Given the description of an element on the screen output the (x, y) to click on. 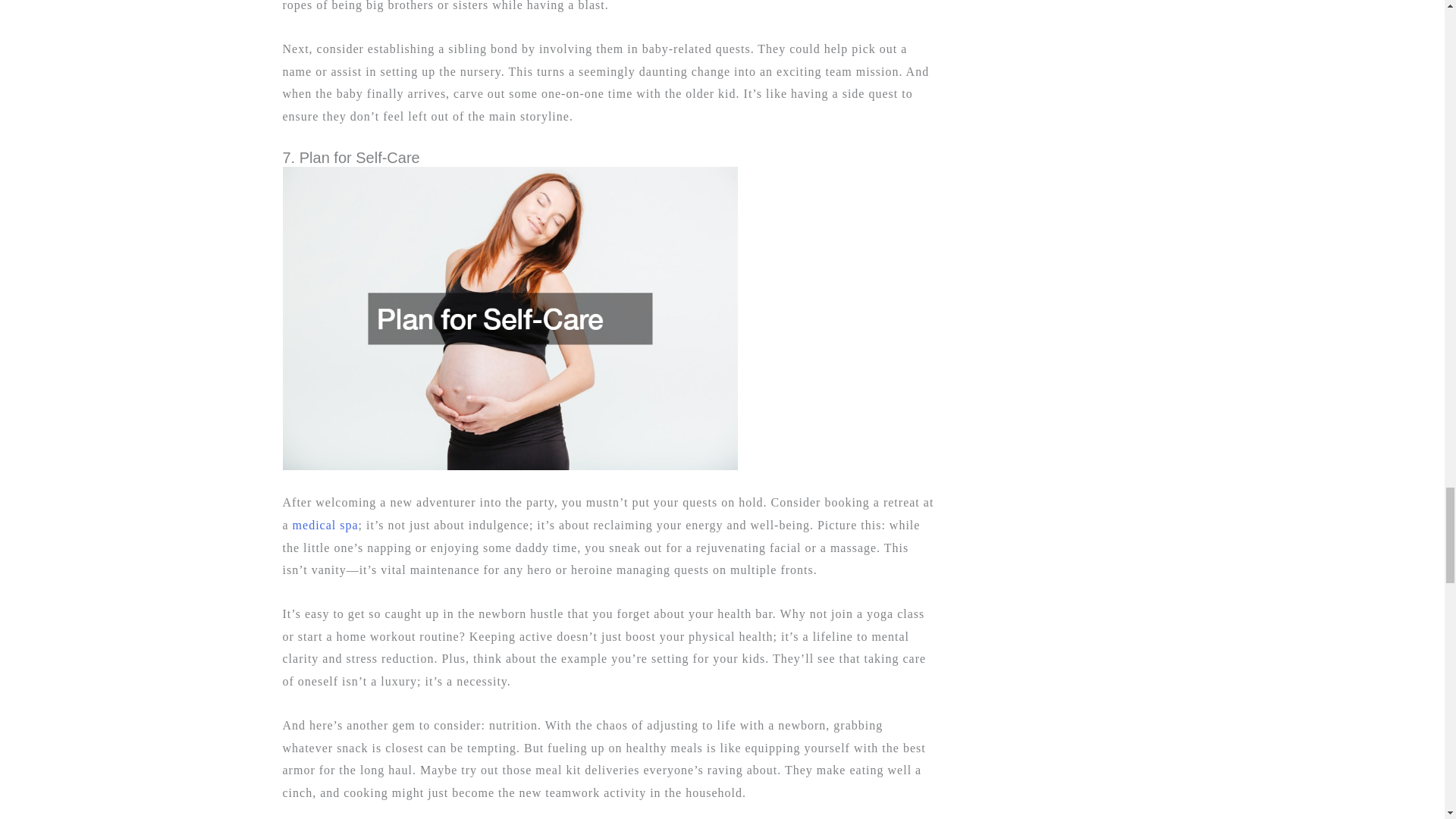
medical spa (325, 524)
